Given the description of an element on the screen output the (x, y) to click on. 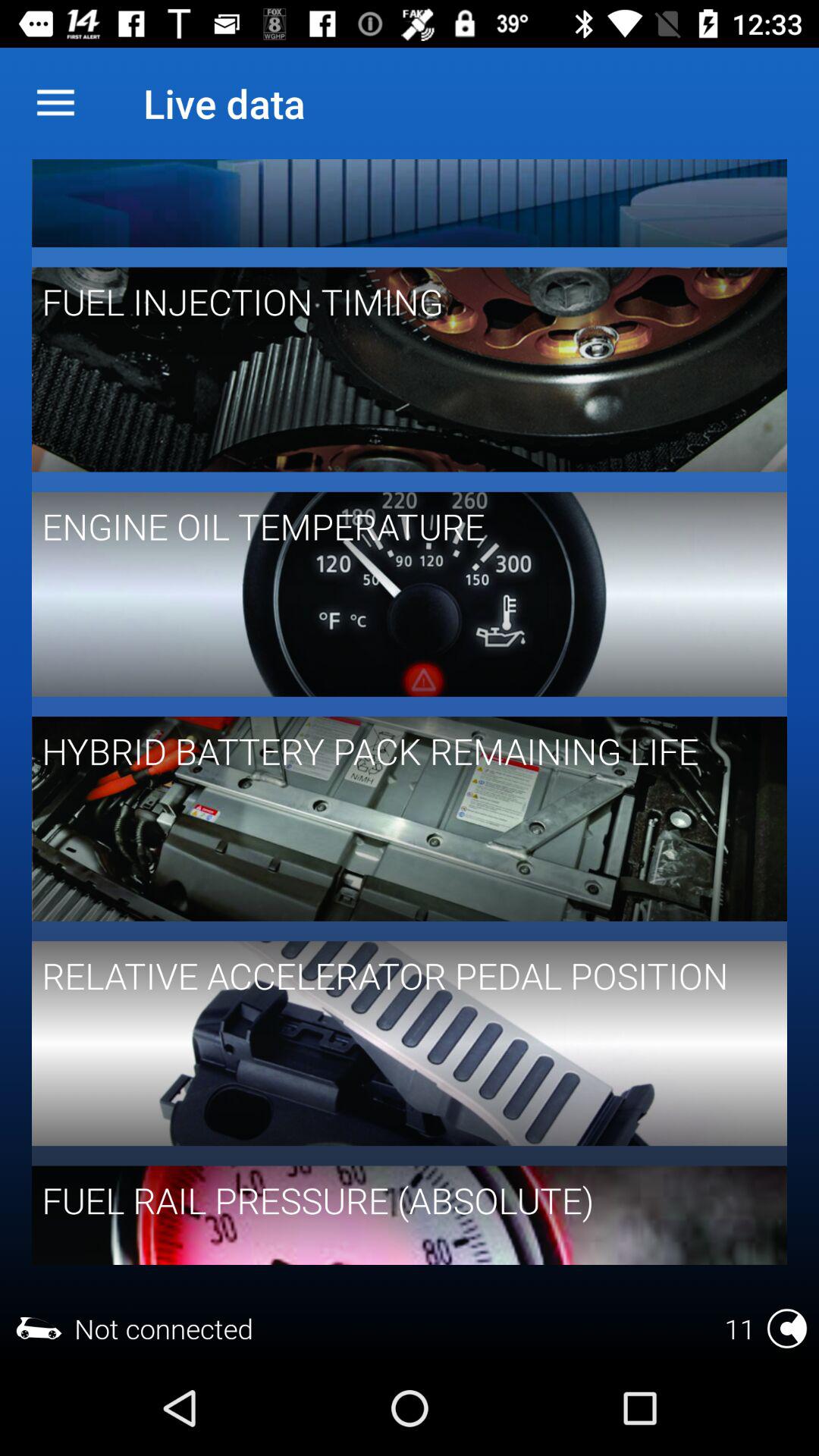
turn off the fuel rail pressure (398, 1199)
